Given the description of an element on the screen output the (x, y) to click on. 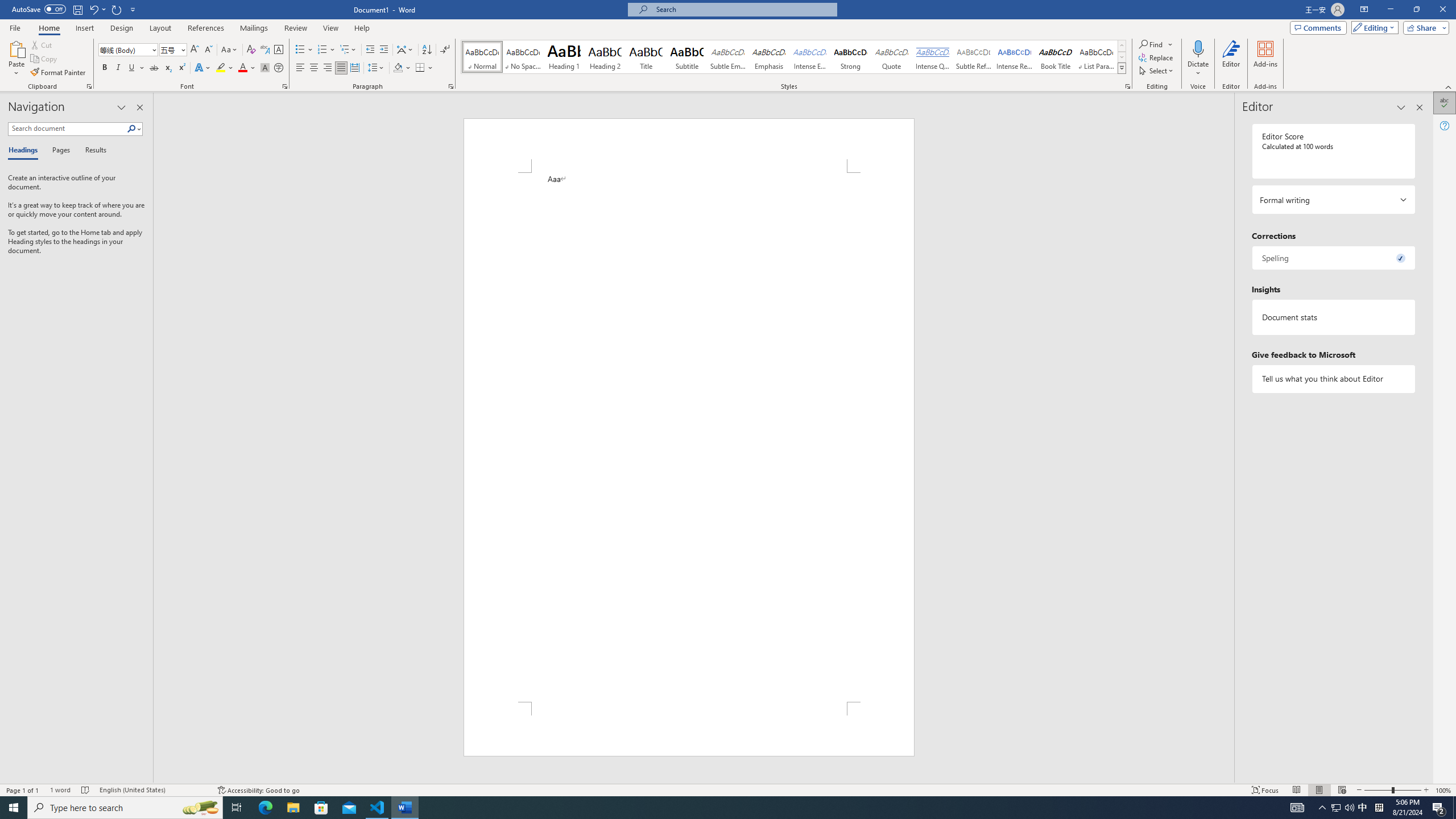
Quote (891, 56)
Zoom 100% (1443, 790)
Multilevel List (347, 49)
Align Left (300, 67)
Subtle Reference (973, 56)
Subscript (167, 67)
Show/Hide Editing Marks (444, 49)
Spelling, 0 issues. Press space or enter to review items. (1333, 257)
Paragraph... (450, 85)
Emphasis (768, 56)
Shading RGB(0, 0, 0) (397, 67)
Undo Increase Indent (92, 9)
